Given the description of an element on the screen output the (x, y) to click on. 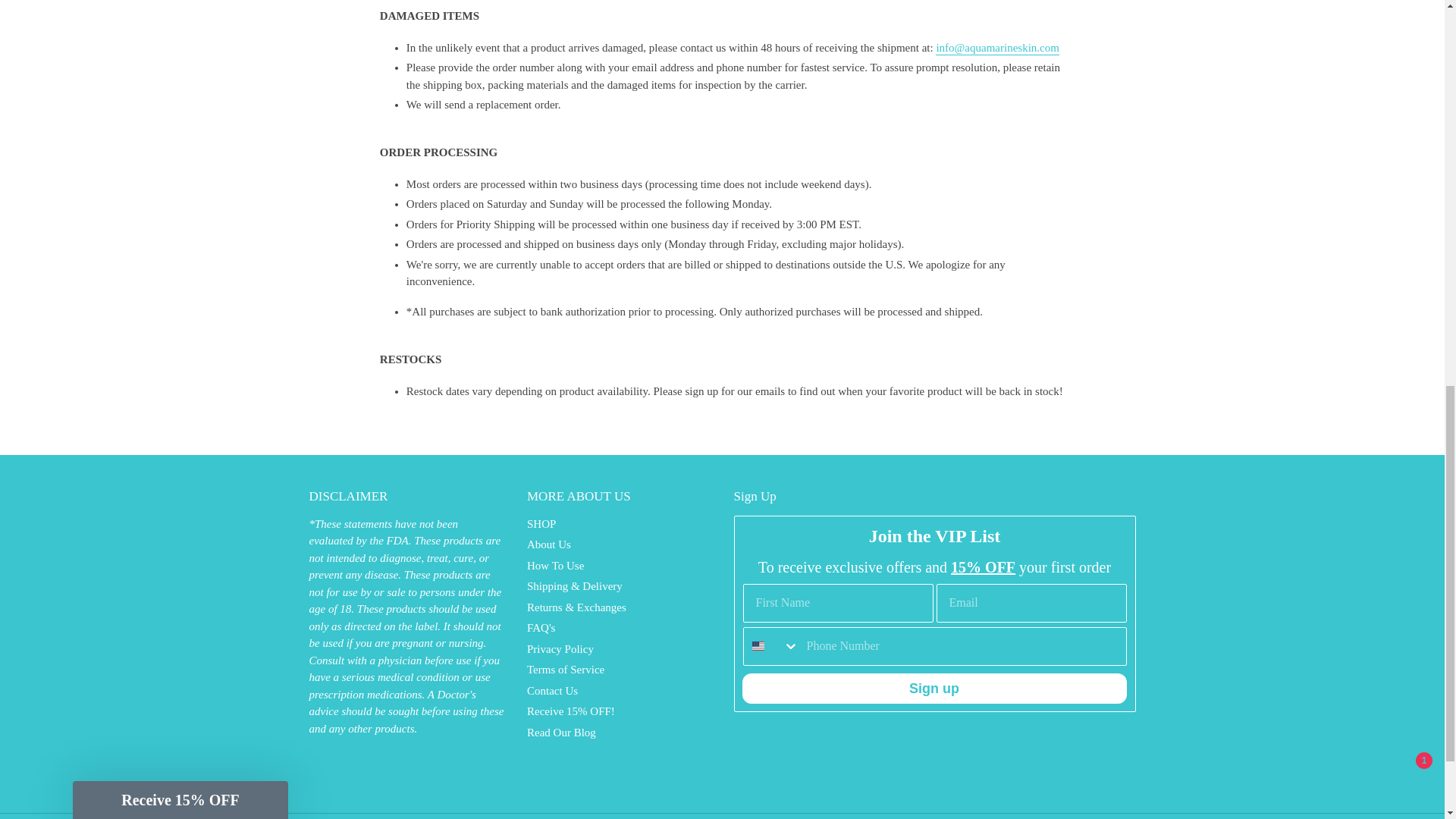
About Us (548, 544)
Terms of Service (565, 669)
Sign up (933, 688)
FAQ's (540, 627)
Contact Us (552, 690)
SHOP (541, 523)
United States (758, 645)
Read Our Blog (561, 732)
How To Use (555, 565)
Privacy Policy (560, 648)
